Given the description of an element on the screen output the (x, y) to click on. 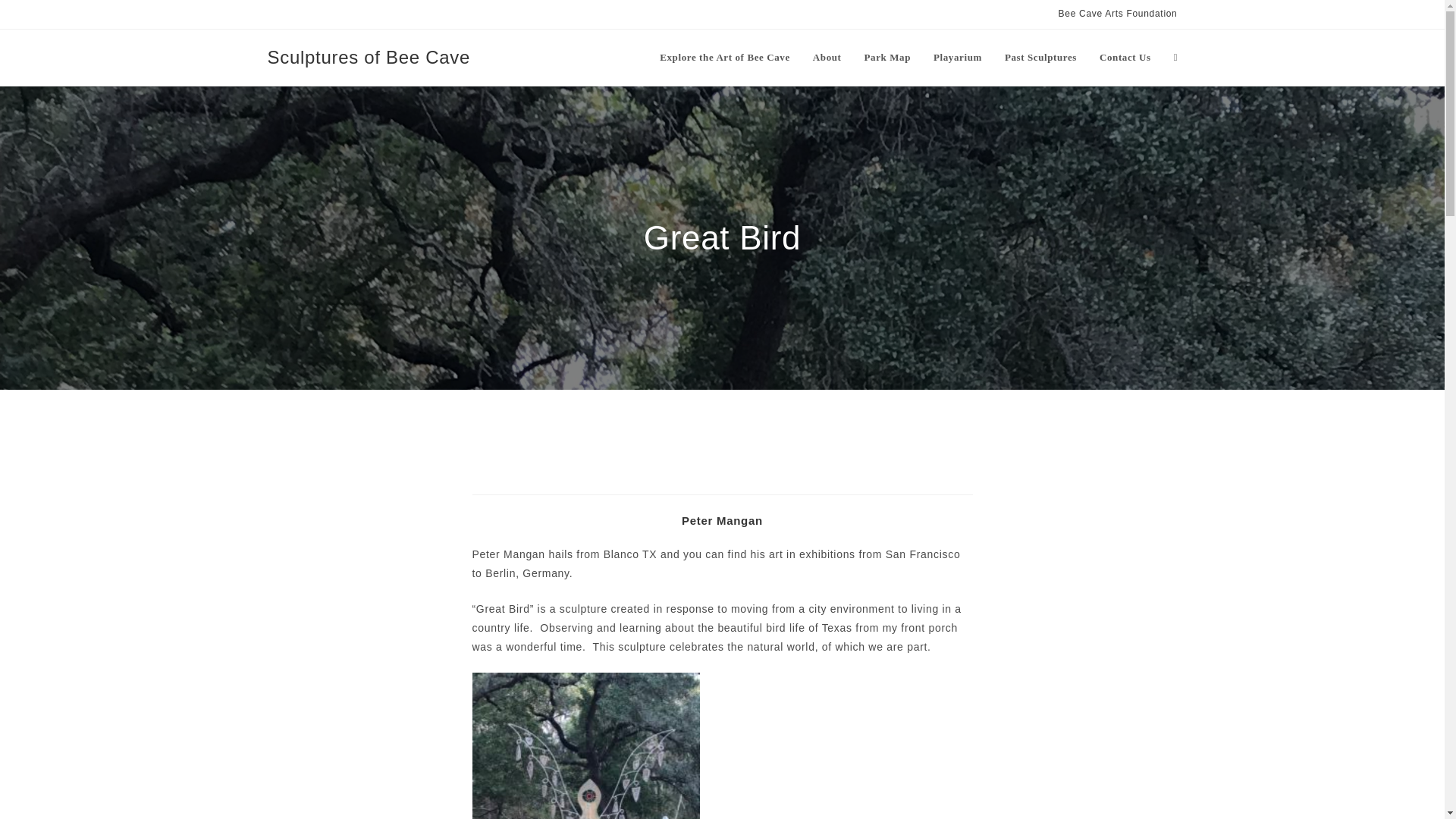
Past Sculptures (1039, 57)
About (827, 57)
Playarium (956, 57)
Contact Us (1124, 57)
Park Map (888, 57)
Sculptures of Bee Cave (368, 56)
Bee Cave Arts Foundation (1117, 13)
Explore the Art of Bee Cave (724, 57)
